Given the description of an element on the screen output the (x, y) to click on. 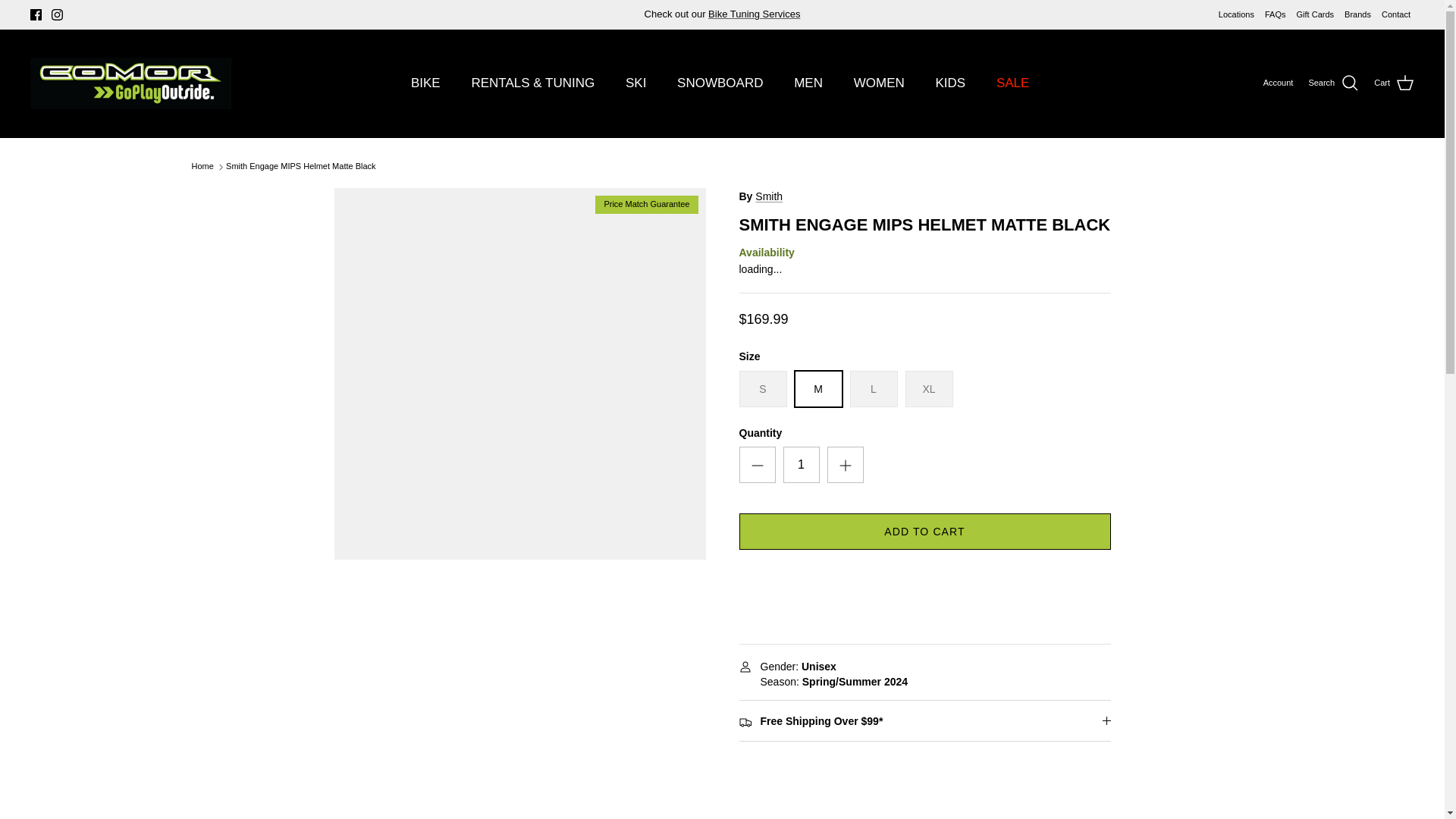
MEN (807, 82)
WOMEN (879, 82)
SALE (1012, 82)
Locations (1235, 14)
Comor - Go Play Outside (130, 83)
Contact (1395, 14)
Cart (1393, 83)
Bike Service Menu (753, 13)
Search (1332, 83)
Plus (844, 465)
Minus (756, 465)
1 (800, 464)
Facebook (36, 14)
SKI (635, 82)
FAQs (1275, 14)
